Given the description of an element on the screen output the (x, y) to click on. 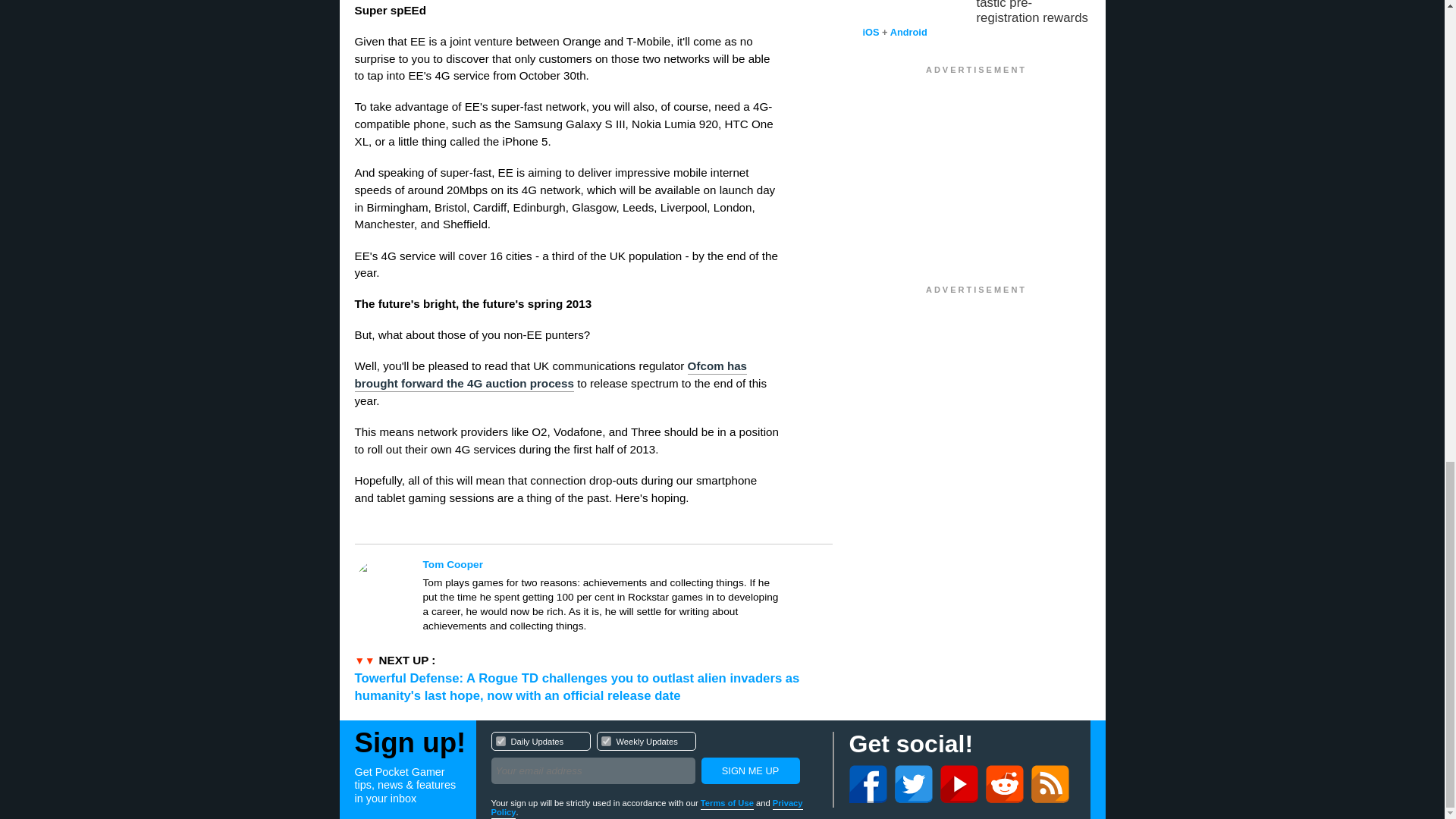
Ofcom has brought forward the 4G auction process (551, 375)
Sign Me Up (654, 759)
Tom Cooper (749, 770)
1 (600, 564)
Sign Me Up (500, 741)
2 (749, 770)
